Given the description of an element on the screen output the (x, y) to click on. 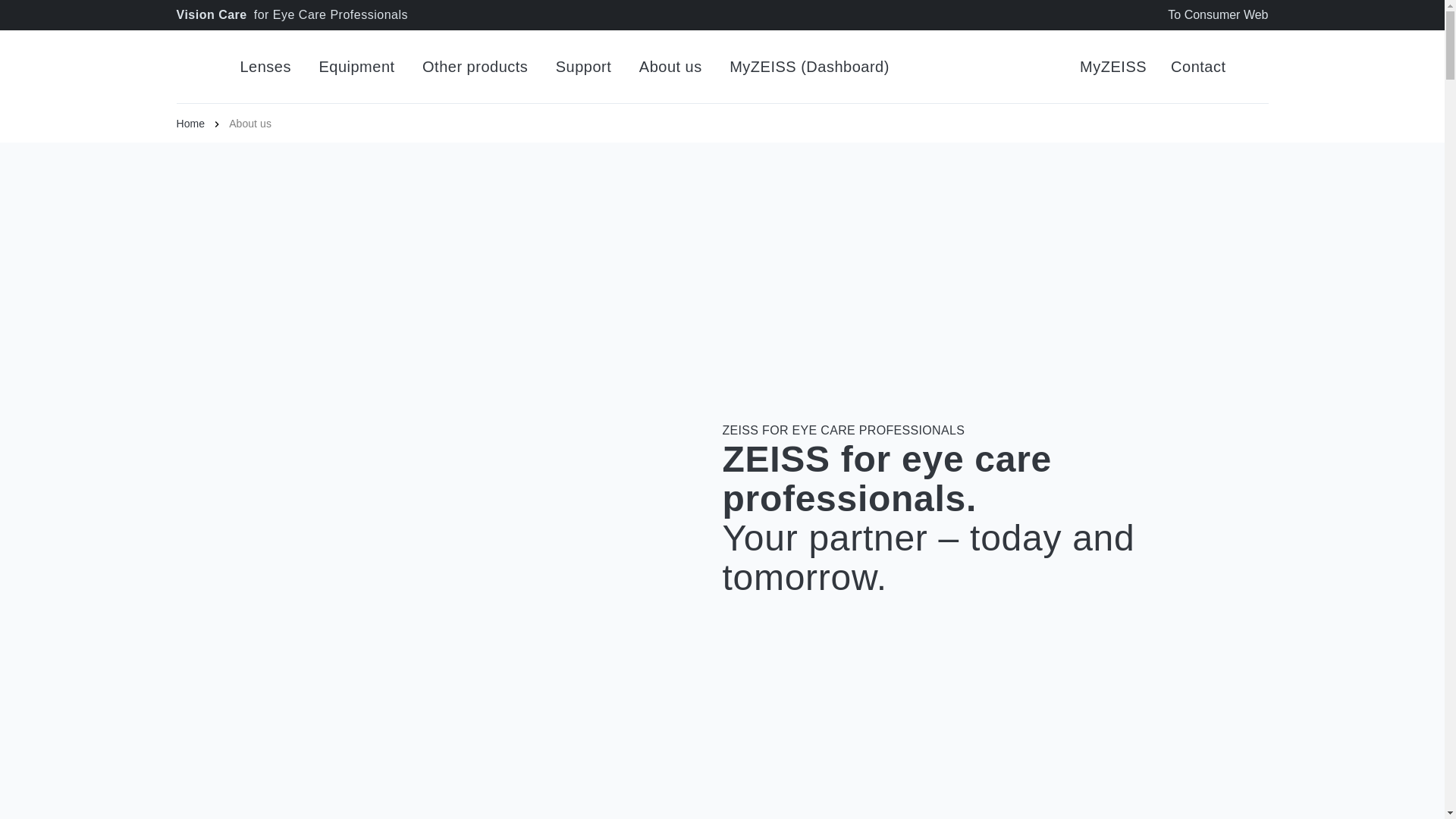
To Consumer Web (1217, 14)
Equipment (356, 66)
Lenses (265, 66)
To Consumer Web (1217, 14)
Other products (474, 66)
Support (583, 66)
About us (670, 66)
